Given the description of an element on the screen output the (x, y) to click on. 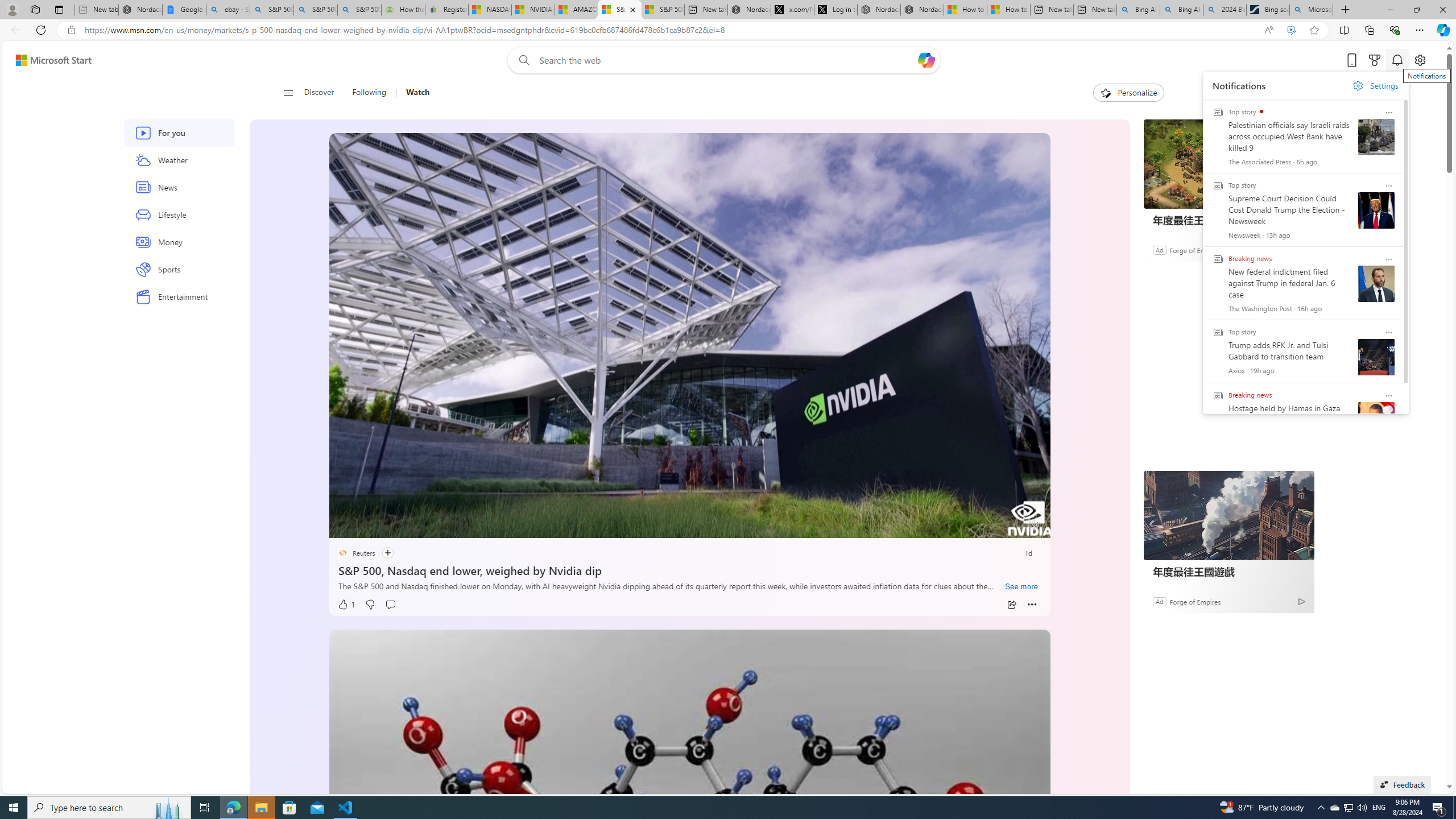
Personalize (1128, 92)
Seek Back (368, 525)
Unmute (1033, 524)
Class: button-glyph (287, 92)
Register: Create a personal eBay account (446, 9)
S&P 500 - Search (315, 9)
